Given the description of an element on the screen output the (x, y) to click on. 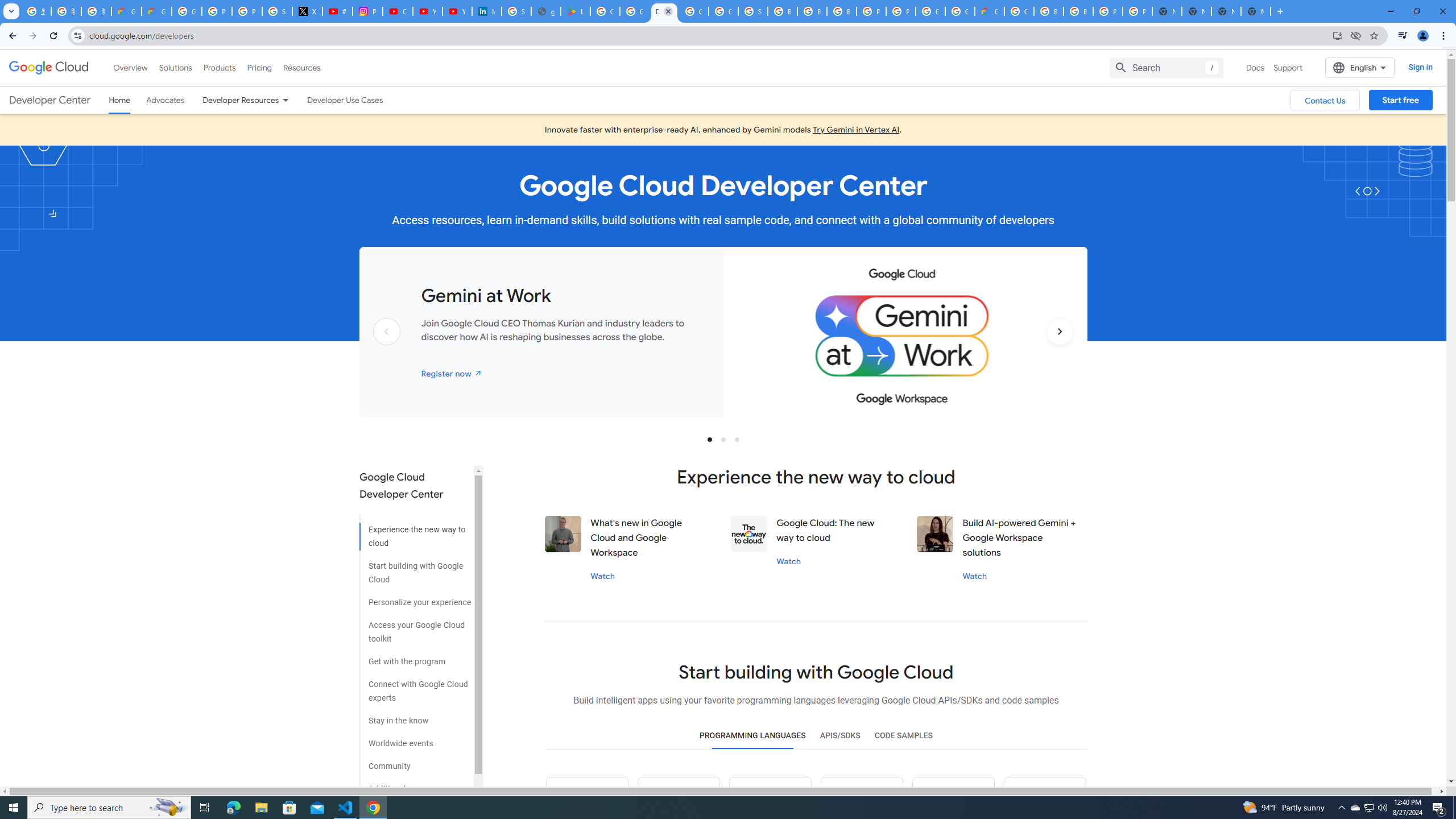
Docs (1254, 67)
